Given the description of an element on the screen output the (x, y) to click on. 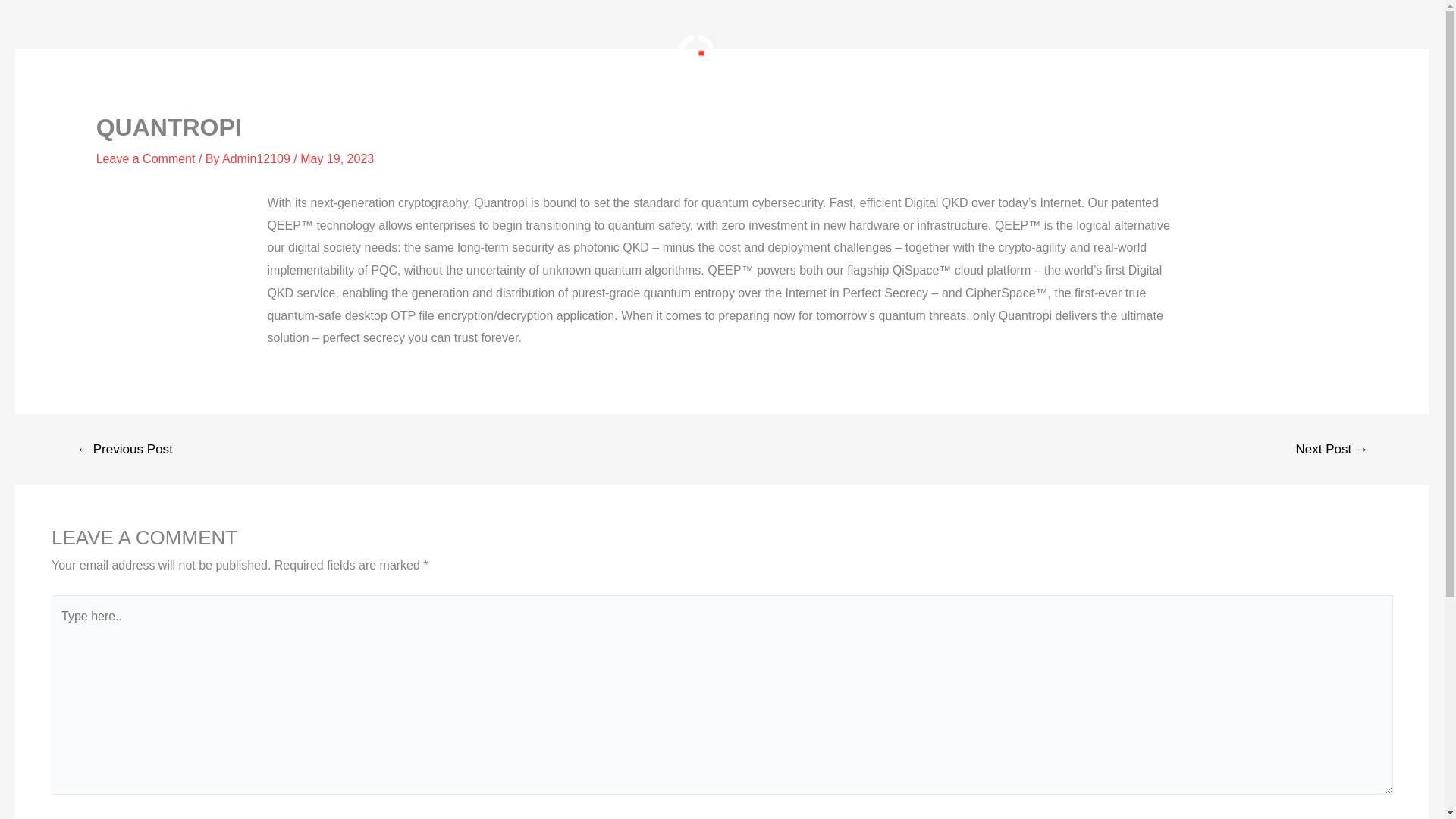
Leave a Comment (145, 158)
English (1023, 52)
Admin12109 (258, 158)
CONTACT US (859, 52)
LEADERSHIP (585, 52)
QIC (696, 52)
OUR COMMUNITY (487, 52)
View all posts by Admin12109 (258, 158)
ENGLISH (1023, 52)
SUBSCRIBE (943, 52)
